Given the description of an element on the screen output the (x, y) to click on. 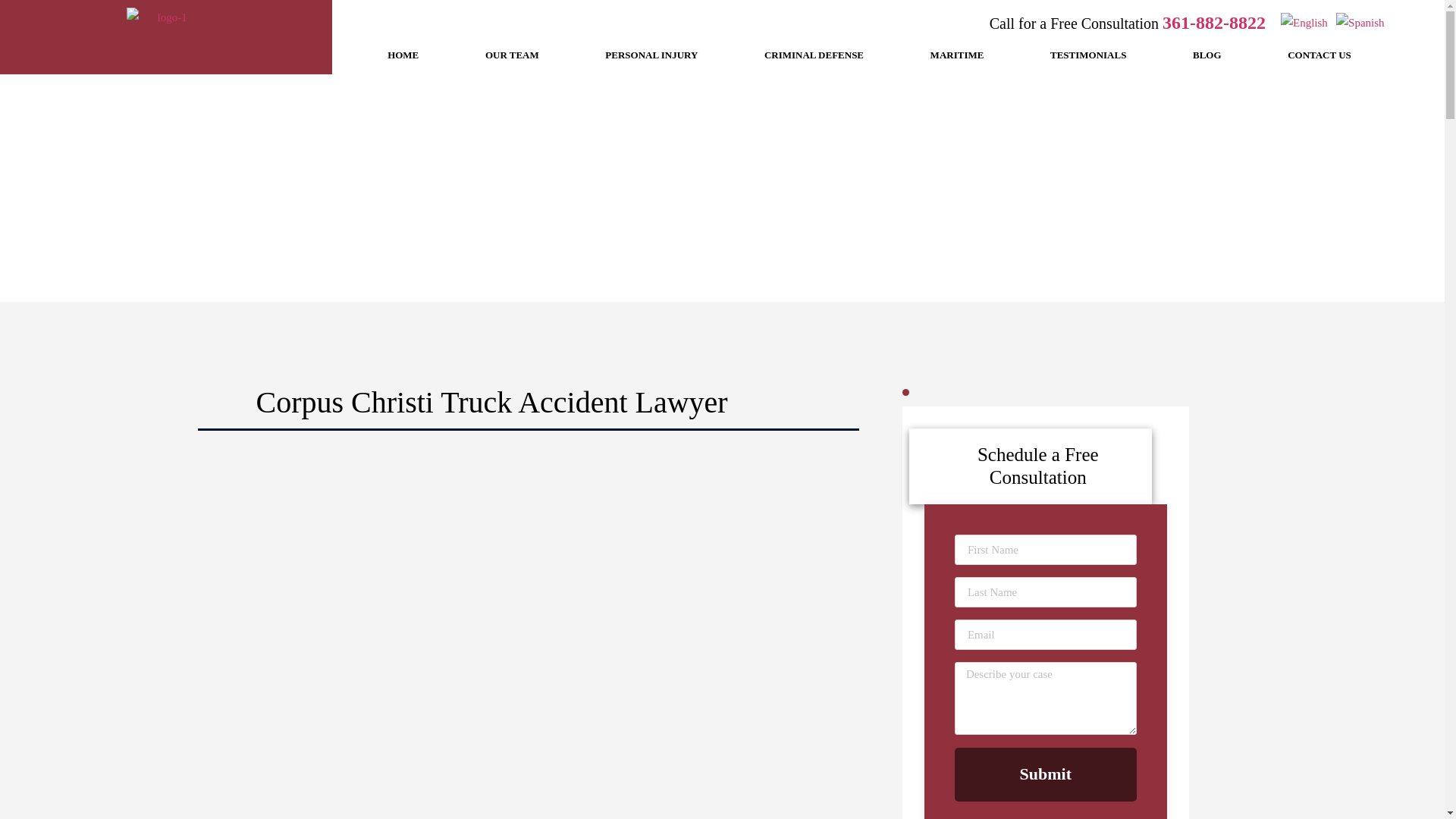
HOME (402, 54)
PERSONAL INJURY (652, 54)
Spanish (1360, 22)
TESTIMONIALS (1087, 54)
OUR TEAM (511, 54)
CONTACT US (1318, 54)
361-882-8822 (1213, 22)
English (1305, 22)
CRIMINAL DEFENSE (813, 54)
MARITIME (956, 54)
BLOG (1205, 54)
